Given the description of an element on the screen output the (x, y) to click on. 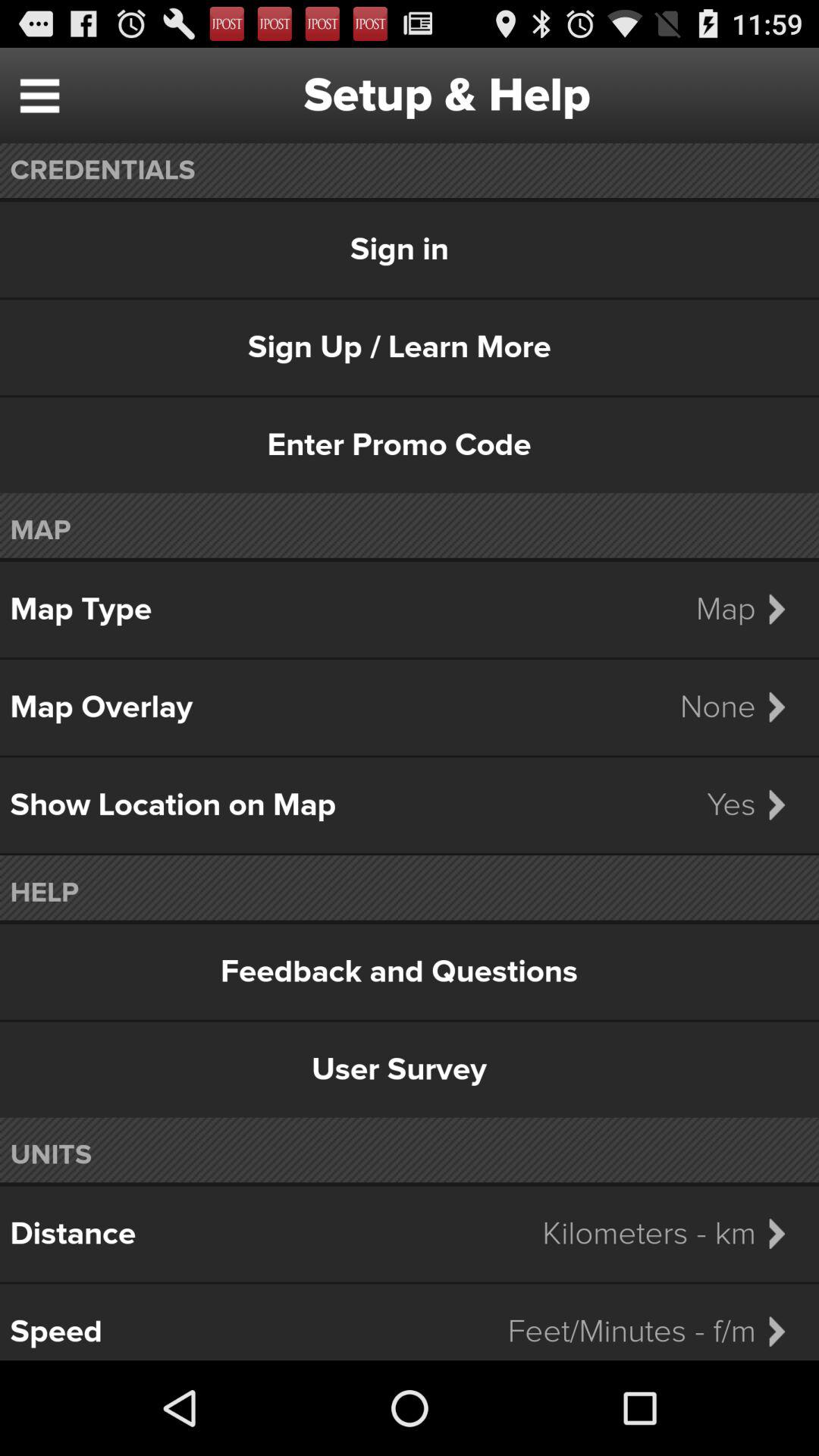
turn on item above credentials icon (39, 95)
